Given the description of an element on the screen output the (x, y) to click on. 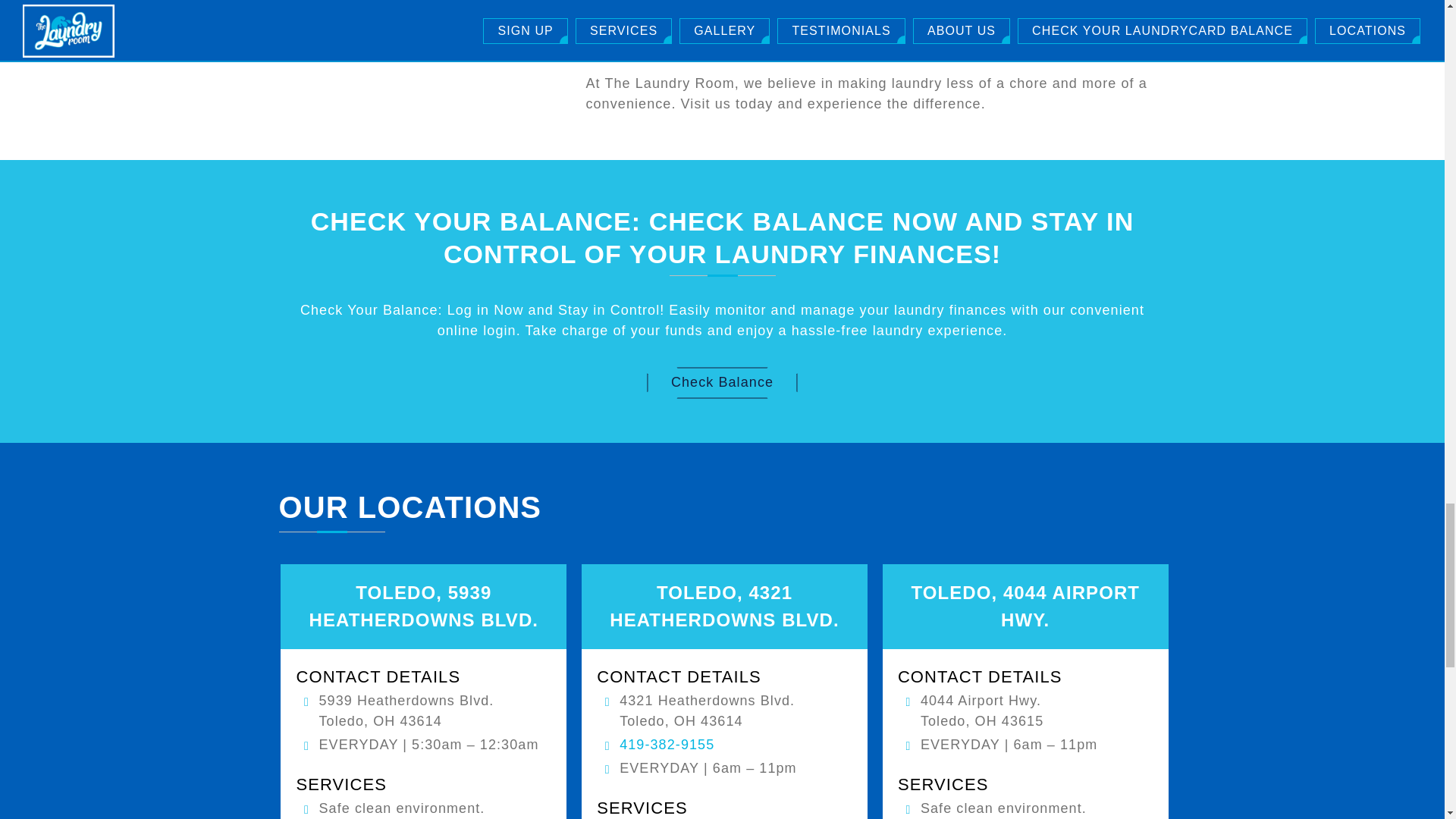
419-382-9155 (667, 744)
Check Balance (721, 382)
